Given the description of an element on the screen output the (x, y) to click on. 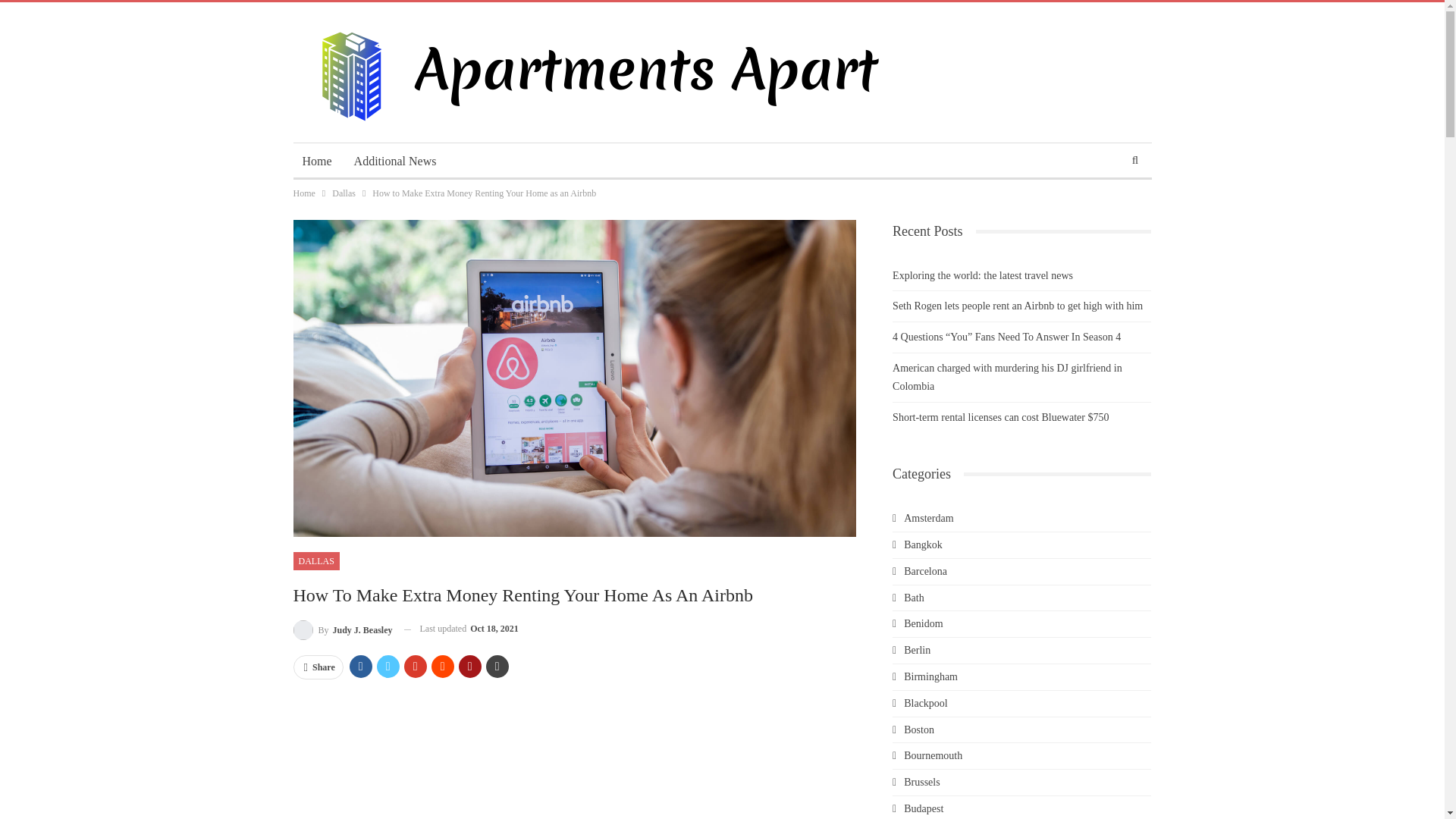
Additional News (395, 161)
Home (316, 161)
Home (303, 193)
By Judy J. Beasley (341, 629)
DALLAS (315, 561)
Dallas (343, 193)
Browse Author Articles (341, 629)
